Given the description of an element on the screen output the (x, y) to click on. 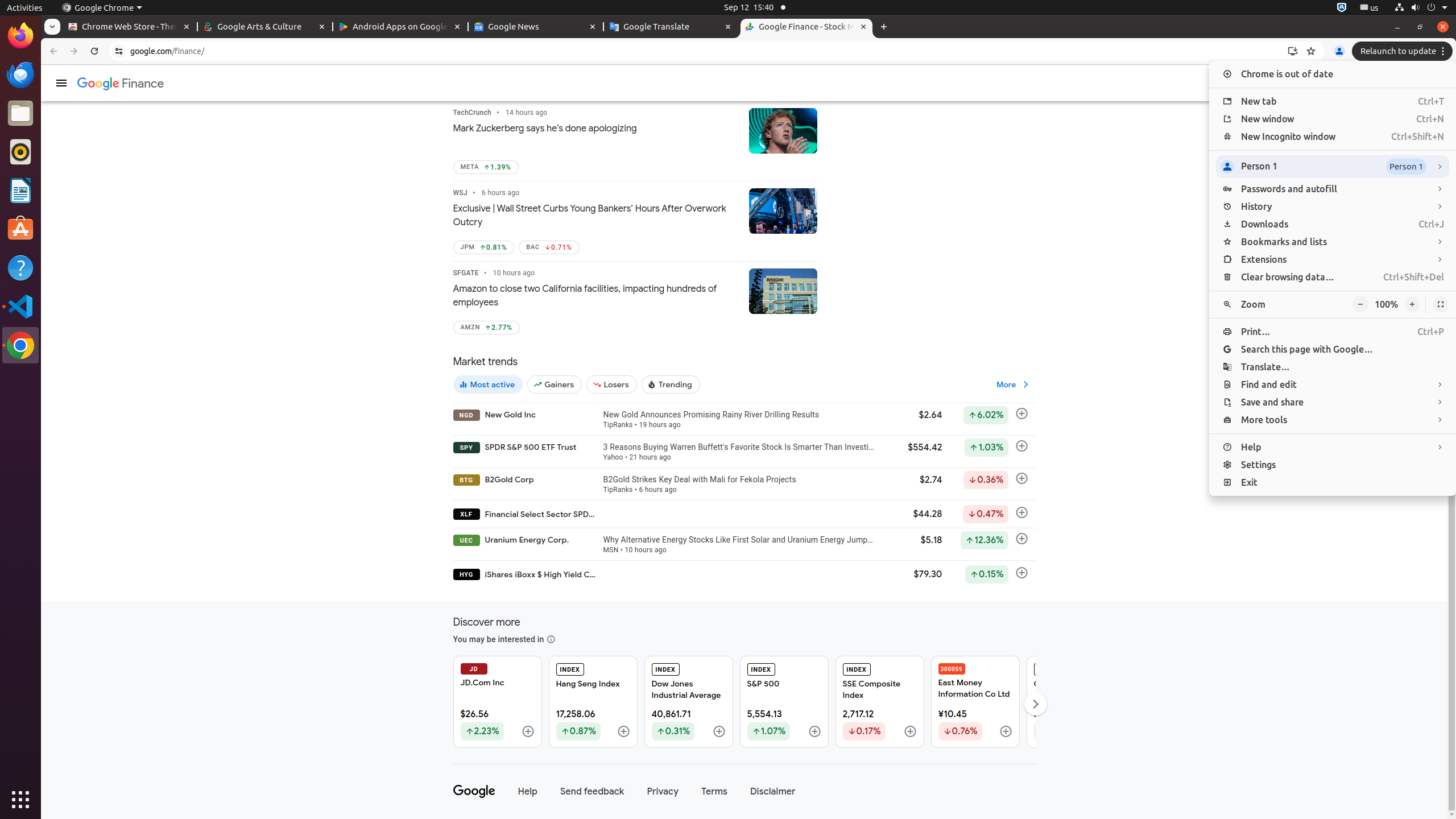
Bookmarks and lists Element type: menu-item (1332, 241)
LibreOffice Writer Element type: push-button (20, 190)
Show Applications Element type: toggle-button (20, 799)
System Element type: menu (1420, 7)
:1.72/StatusNotifierItem Element type: menu (1341, 7)
